Given the description of an element on the screen output the (x, y) to click on. 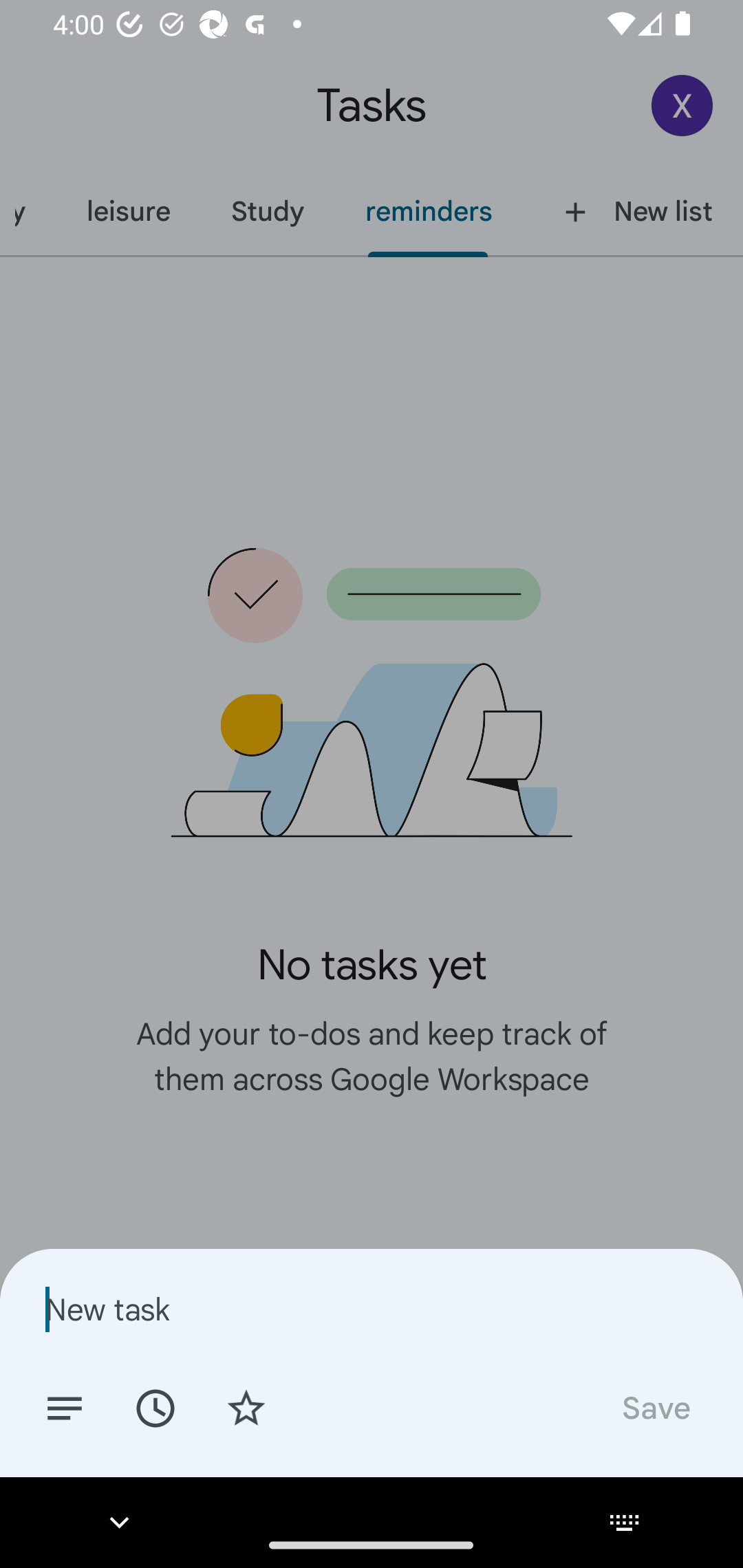
New task (371, 1308)
Save (655, 1407)
Add details (64, 1407)
Set date/time (154, 1407)
Add star (245, 1407)
